Given the description of an element on the screen output the (x, y) to click on. 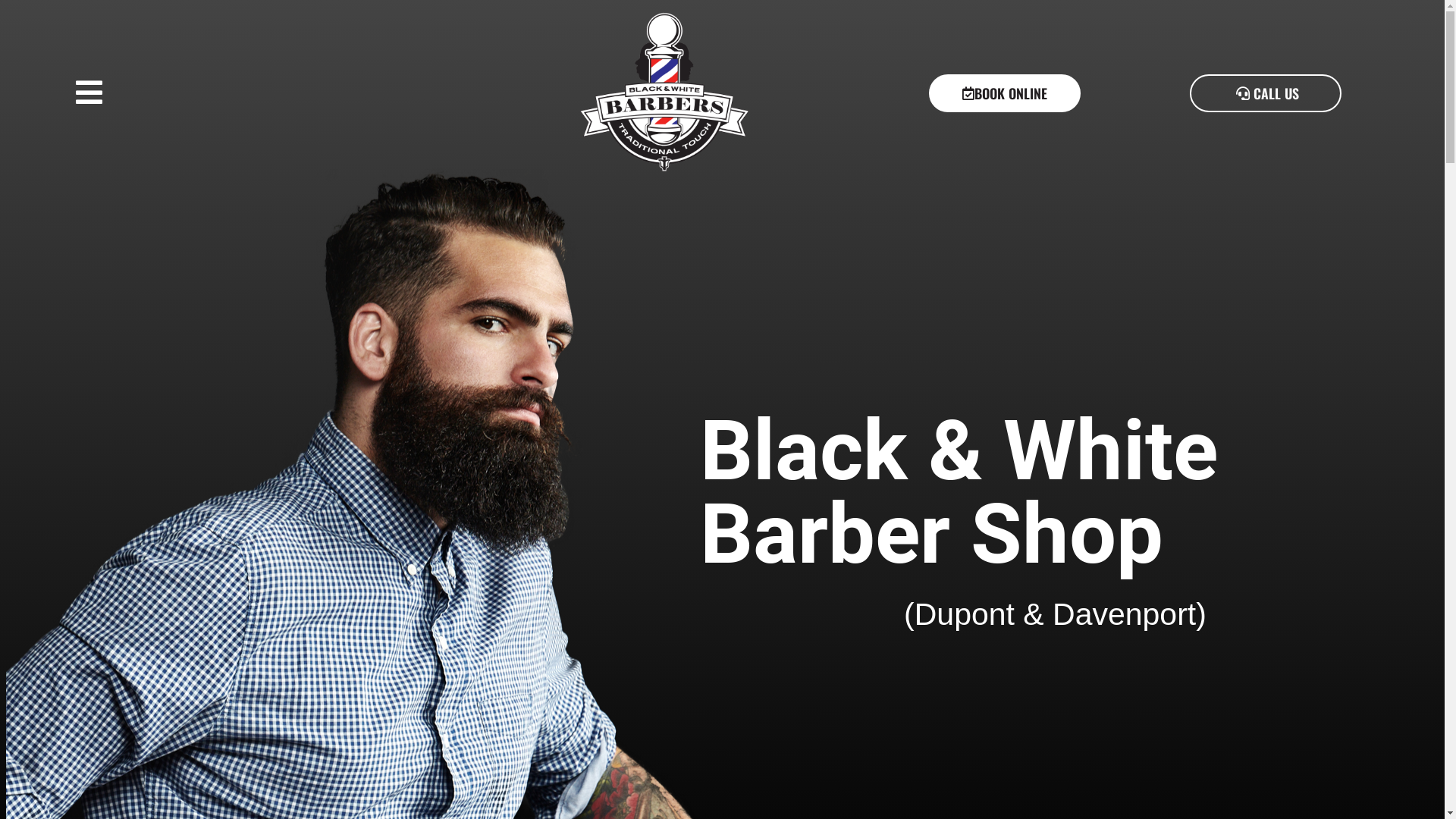
BOOK ONLINE Element type: text (1004, 93)
CALL US Element type: text (1265, 93)
